Given the description of an element on the screen output the (x, y) to click on. 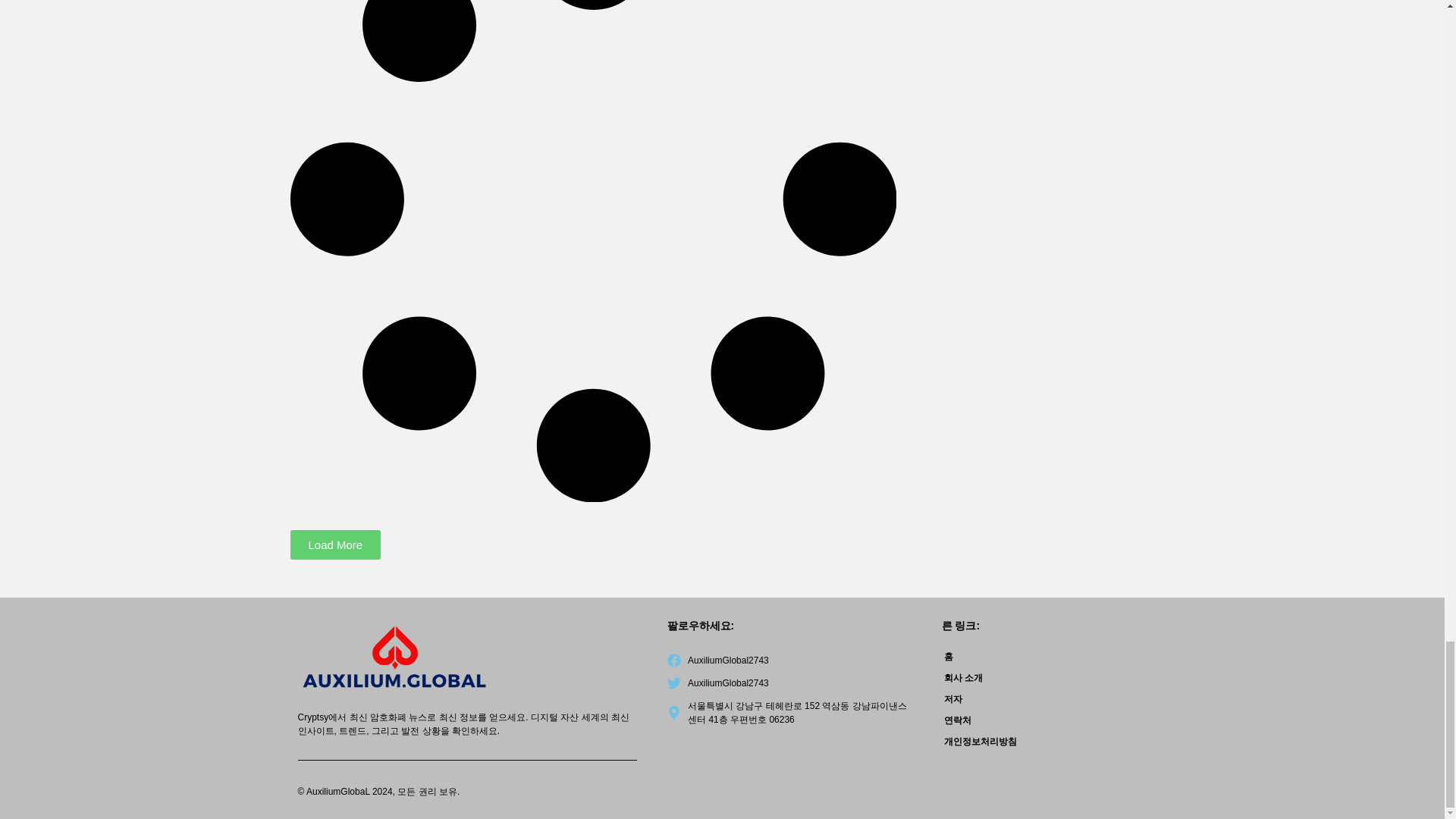
Load More (334, 544)
